Given the description of an element on the screen output the (x, y) to click on. 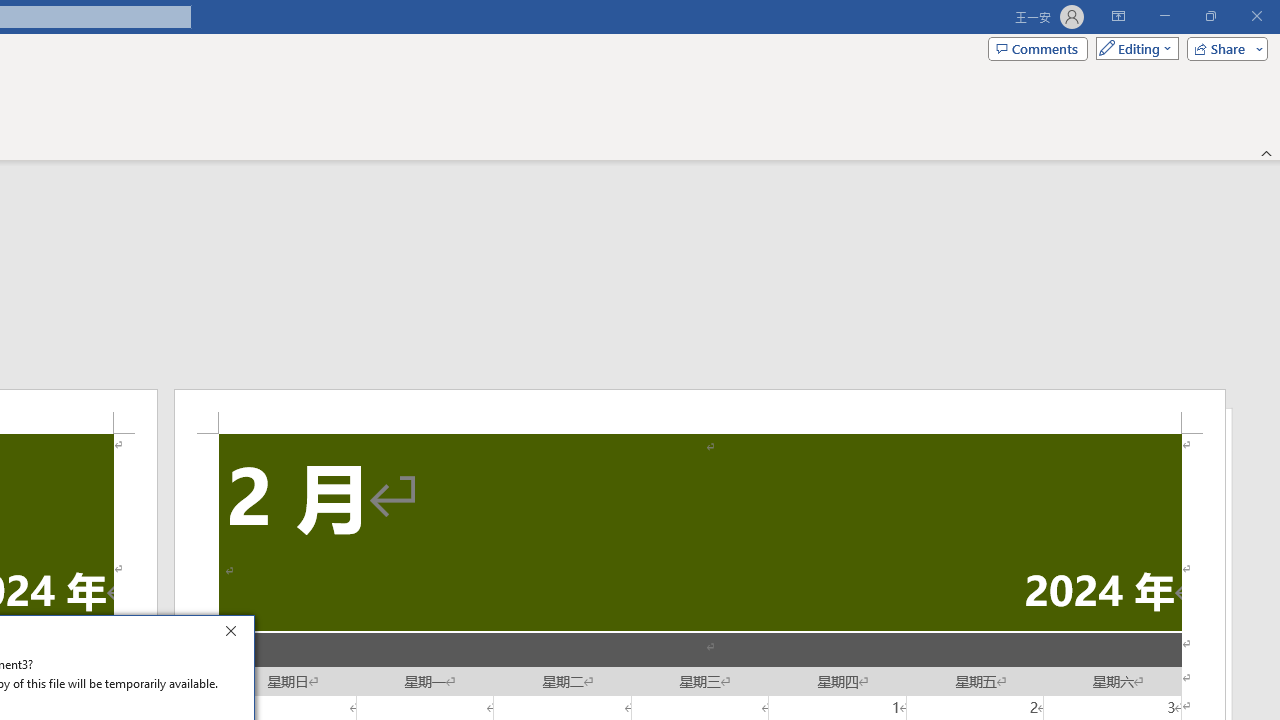
Header -Section 2- (700, 411)
